Given the description of an element on the screen output the (x, y) to click on. 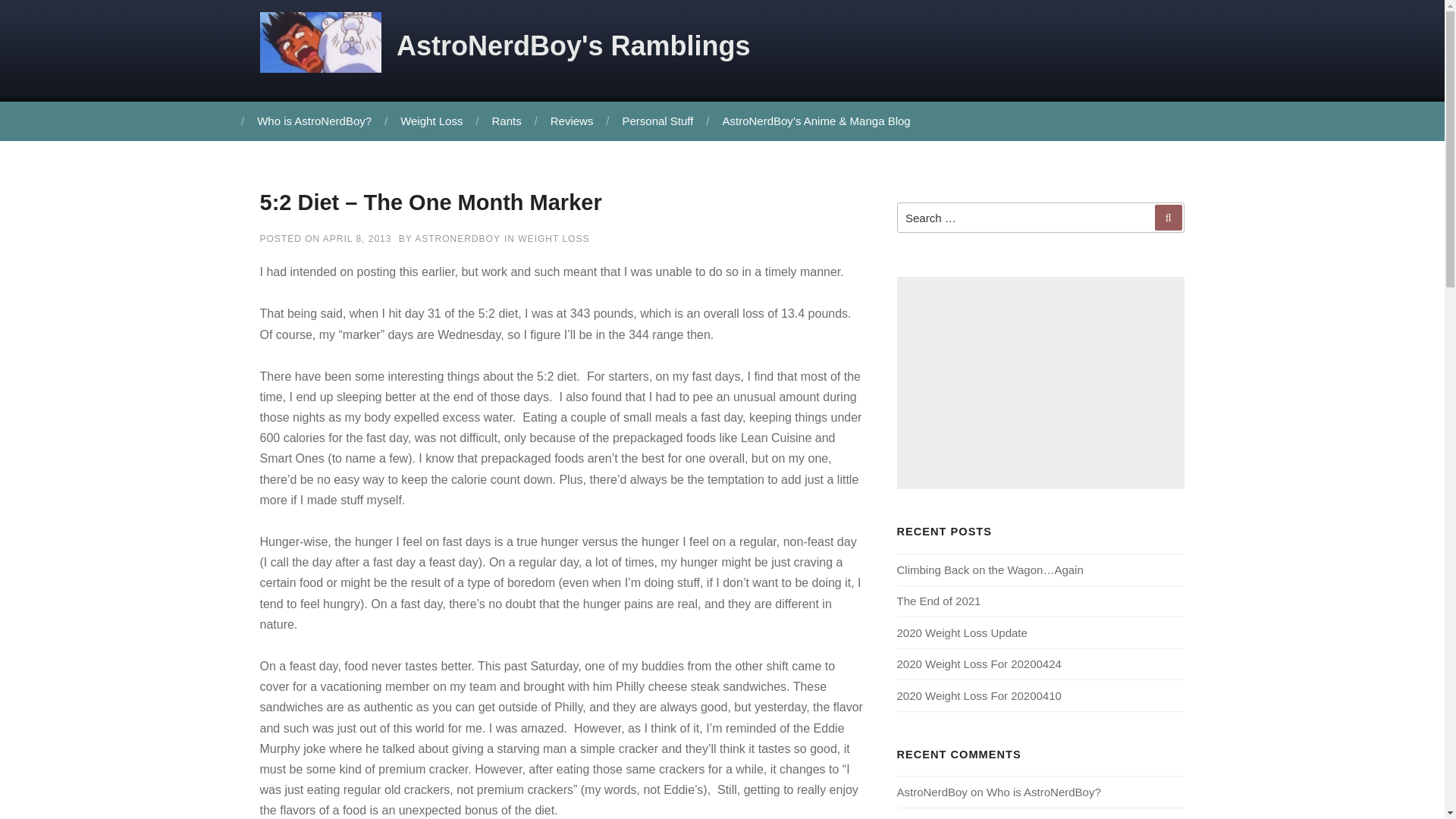
2020 Weight Loss For 20200410 (978, 695)
The End of 2021 (937, 600)
Personal Stuff (655, 120)
Weight Loss (429, 120)
Who is AstroNerdBoy? (312, 120)
Rants (504, 120)
Who is AstroNerdBoy? (1045, 817)
Who is AstroNerdBoy? (1043, 791)
Advertisement (1040, 382)
ASTRONERDBOY (457, 238)
2020 Weight Loss Update (961, 632)
AstroNerdBoy's Ramblings (573, 45)
Reviews (570, 120)
Weight Loss (429, 120)
WEIGHT LOSS (553, 238)
